Given the description of an element on the screen output the (x, y) to click on. 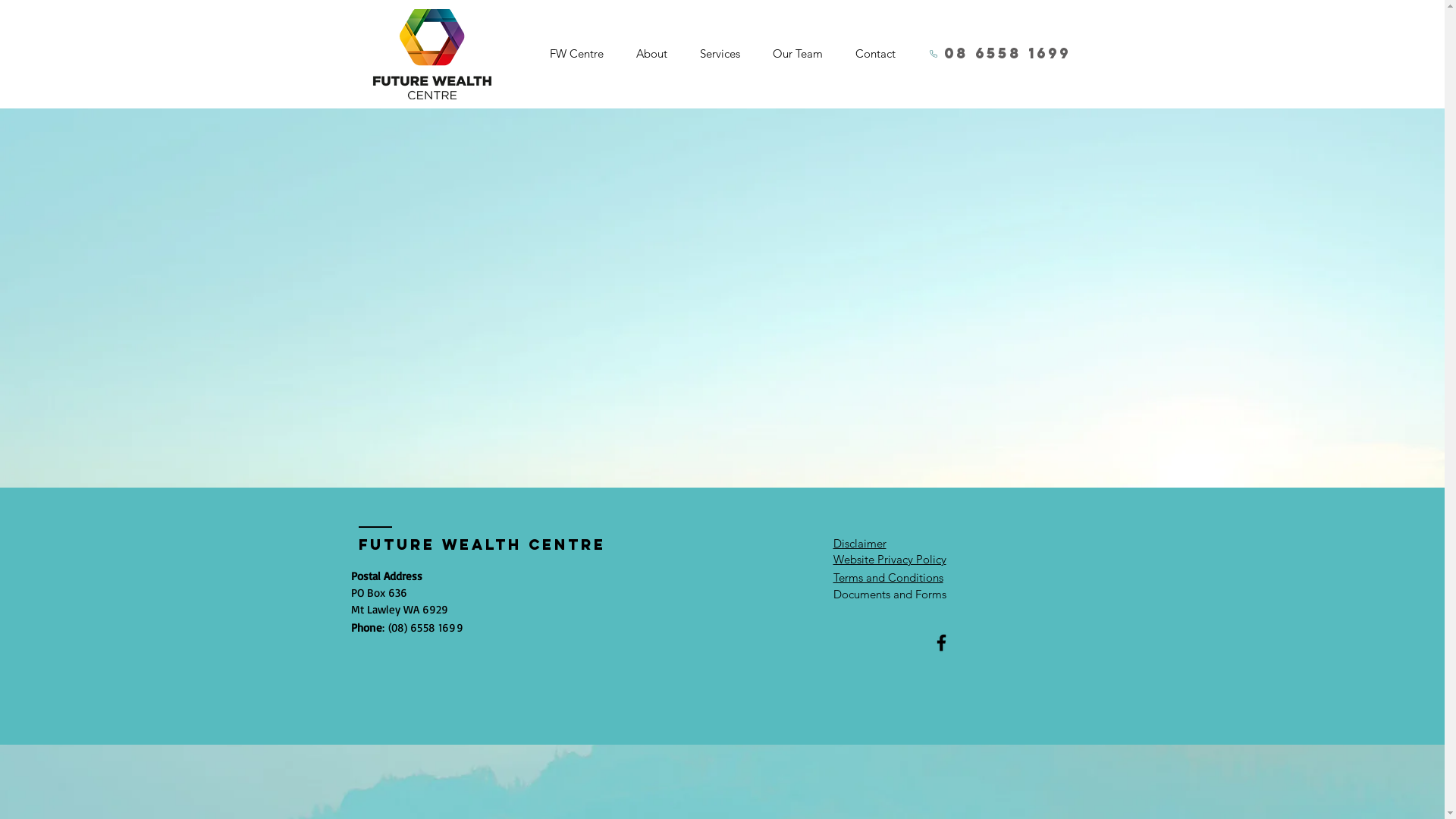
Contact Element type: text (874, 53)
About Element type: text (652, 53)
Our Team Element type: text (797, 53)
Terms and Conditions Element type: text (887, 577)
Documents and Forms Element type: text (888, 593)
Disclaimer Element type: text (858, 543)
Website Privacy Policy Element type: text (888, 559)
Services Element type: text (720, 53)
08 6558 1699 Element type: text (999, 53)
FW Centre Element type: text (575, 53)
